Given the description of an element on the screen output the (x, y) to click on. 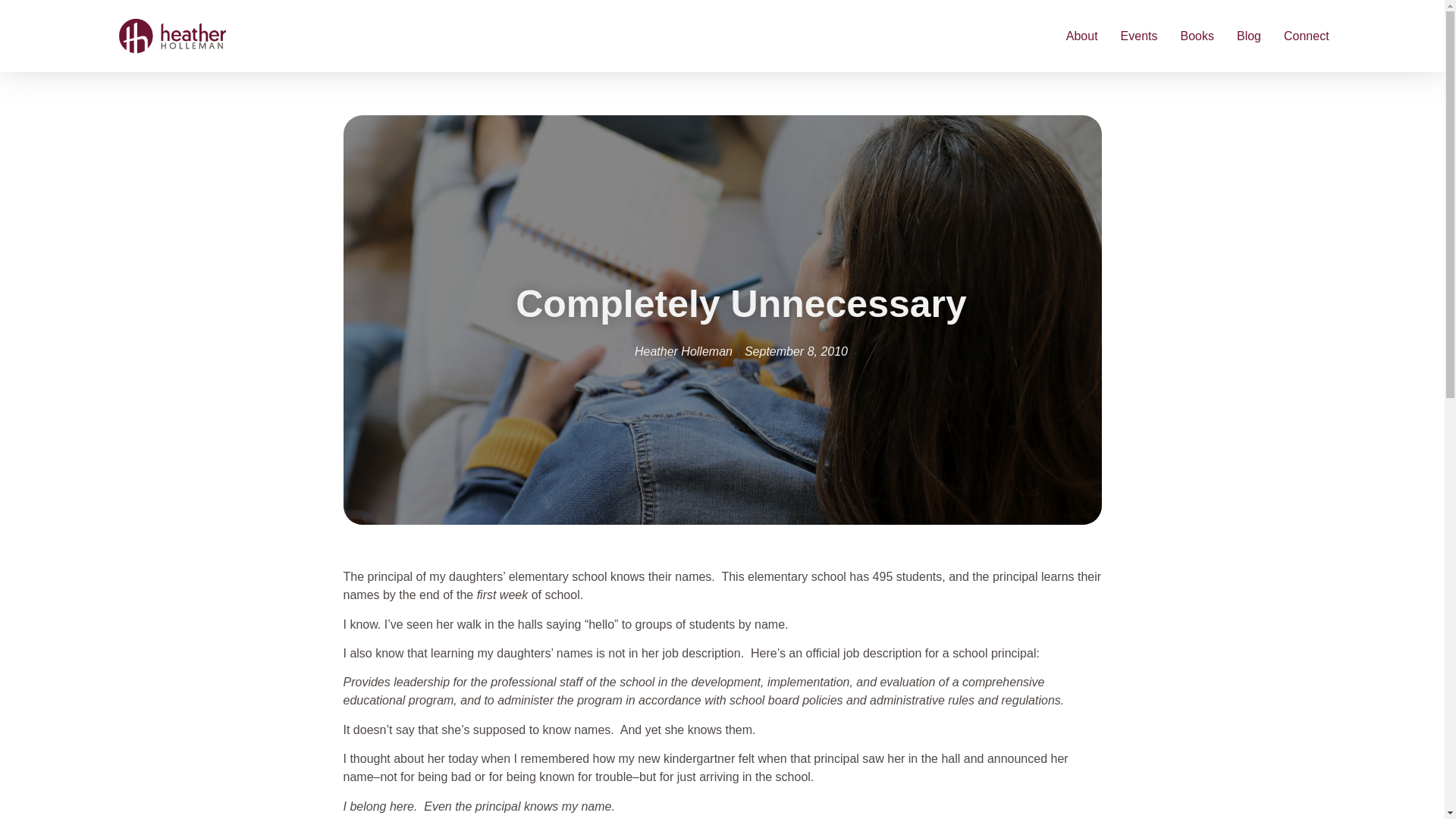
Events (1139, 35)
Connect (1306, 35)
Blog (1248, 35)
About (1081, 35)
Books (1195, 35)
